Given the description of an element on the screen output the (x, y) to click on. 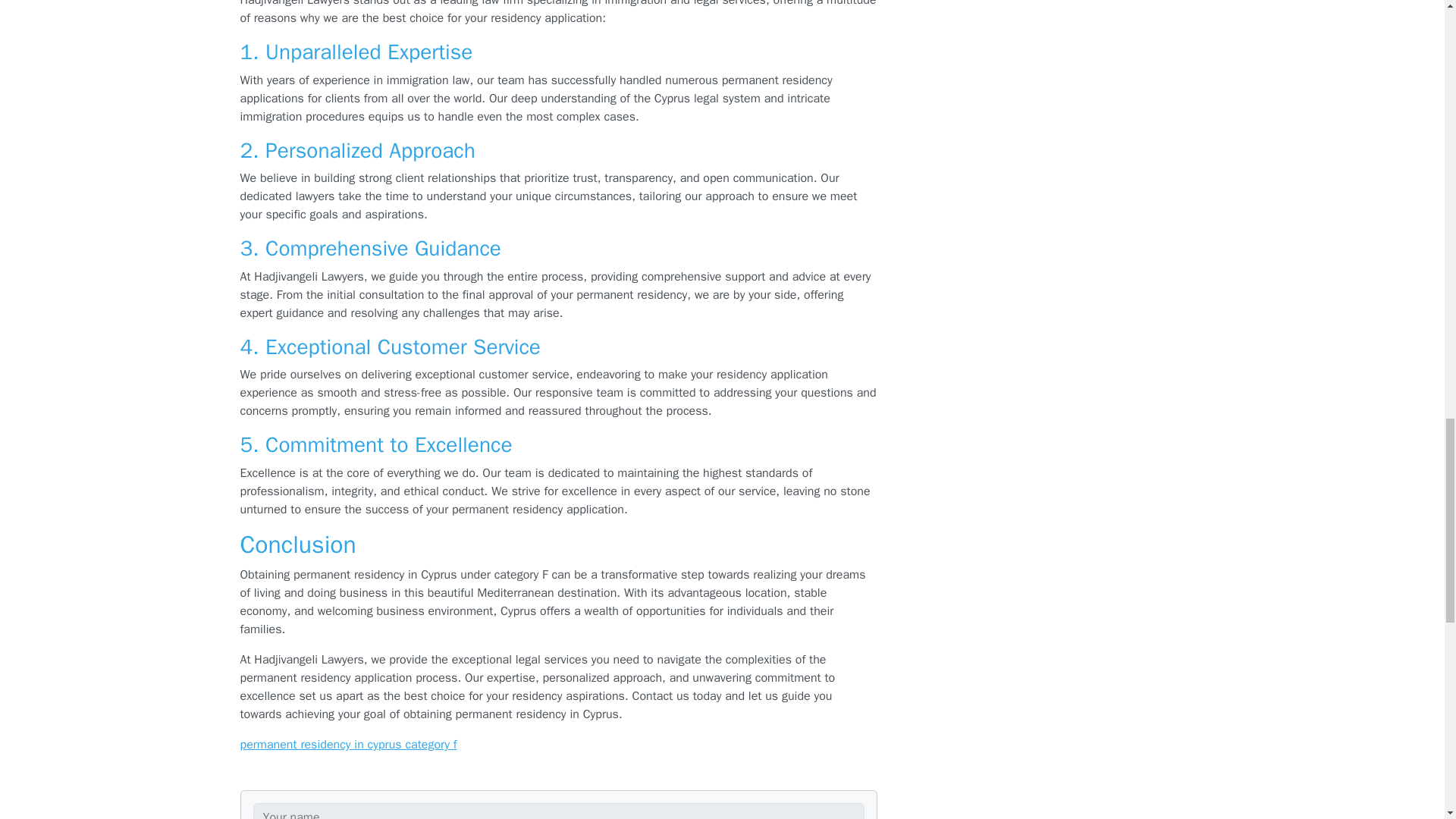
permanent residency in cyprus category f (348, 744)
